Given the description of an element on the screen output the (x, y) to click on. 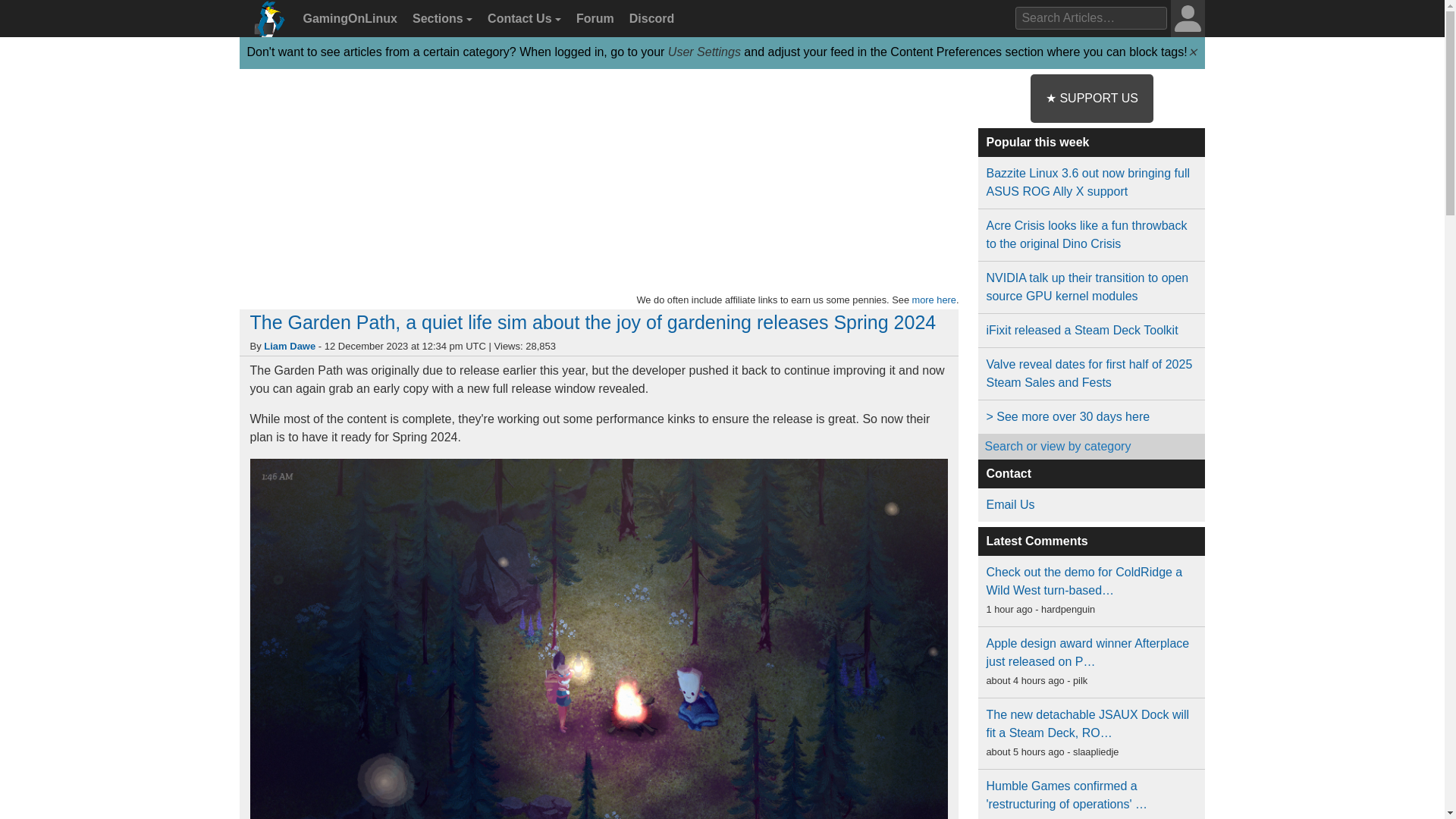
Forum (593, 19)
Discord (649, 19)
User Settings (704, 51)
GamingOnLinux Home (267, 23)
GamingOnLinux (348, 19)
Sections (440, 19)
Contact Us (522, 19)
